Given the description of an element on the screen output the (x, y) to click on. 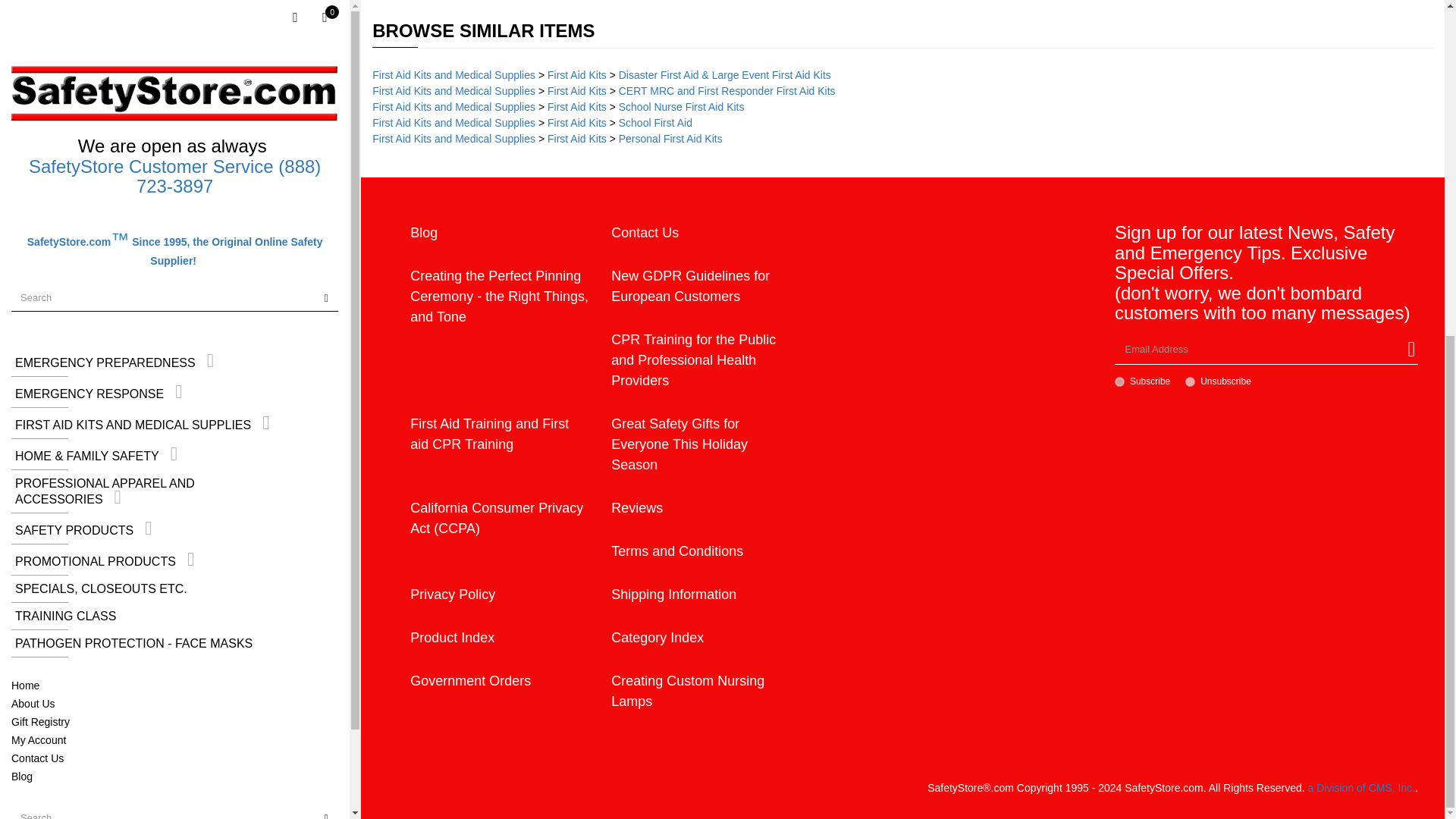
Follow Us on Instagram (149, 294)
Like Us on Facebook (21, 294)
Follow Us on Pinterest (117, 294)
1 (1119, 381)
Subscribe to our Channel (85, 294)
Follow Us on Twitter (53, 294)
Subscribe to our Blog (180, 294)
0 (1190, 381)
